Given the description of an element on the screen output the (x, y) to click on. 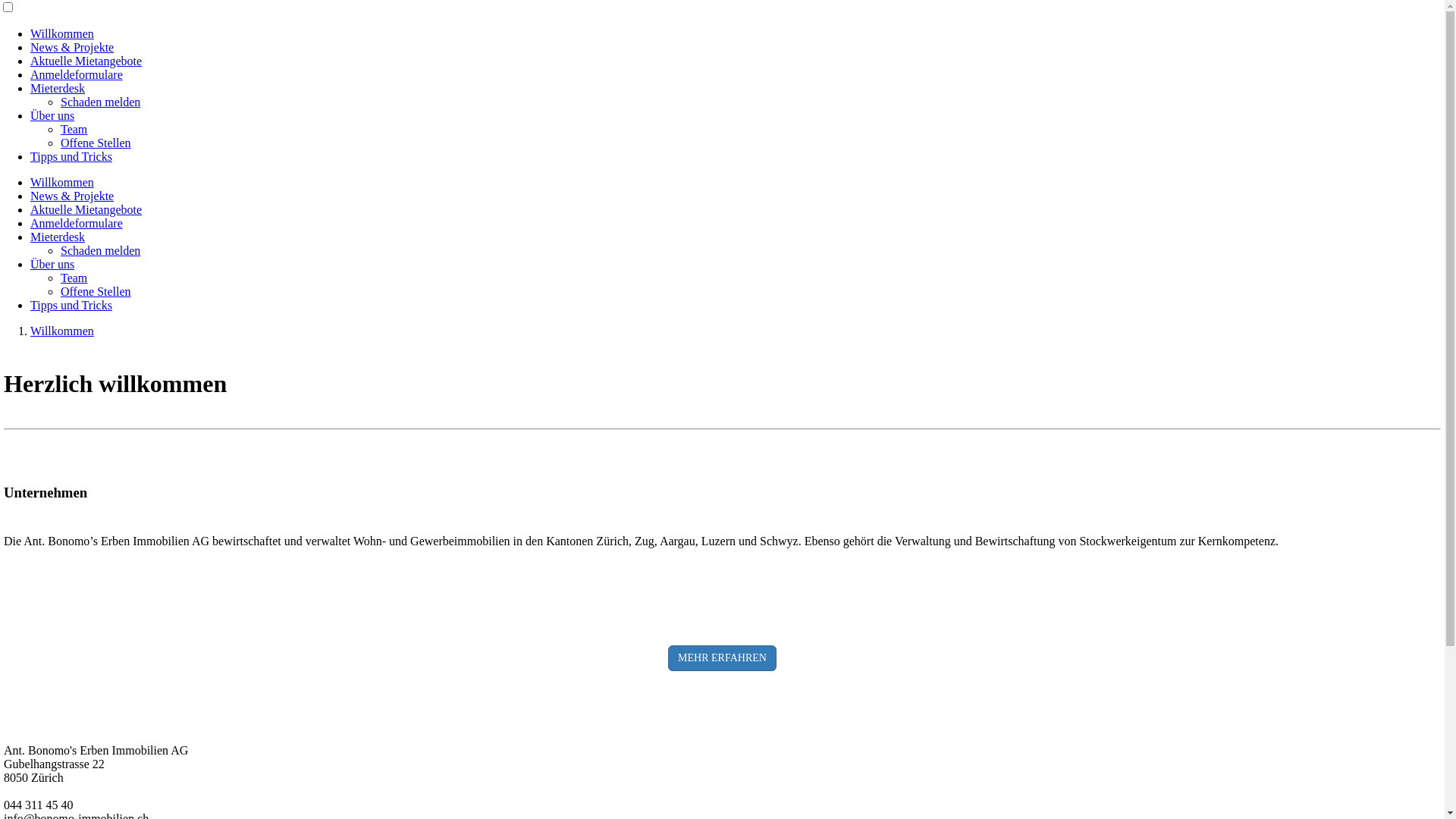
News & Projekte Element type: text (71, 46)
Offene Stellen Element type: text (95, 291)
MEHR ERFAHREN Element type: text (722, 658)
Anmeldeformulare Element type: text (76, 74)
Tipps und Tricks Element type: text (71, 156)
Willkommen Element type: text (62, 33)
Anmeldeformulare Element type: text (76, 222)
Schaden melden Element type: text (100, 250)
Mieterdesk Element type: text (57, 87)
Aktuelle Mietangebote Element type: text (85, 60)
Schaden melden Element type: text (100, 101)
Offene Stellen Element type: text (95, 142)
Team Element type: text (73, 277)
Team Element type: text (73, 128)
Mieterdesk Element type: text (57, 236)
Willkommen Element type: text (62, 181)
News & Projekte Element type: text (71, 195)
Aktuelle Mietangebote Element type: text (85, 209)
Tipps und Tricks Element type: text (71, 304)
Willkommen Element type: text (62, 330)
